Given the description of an element on the screen output the (x, y) to click on. 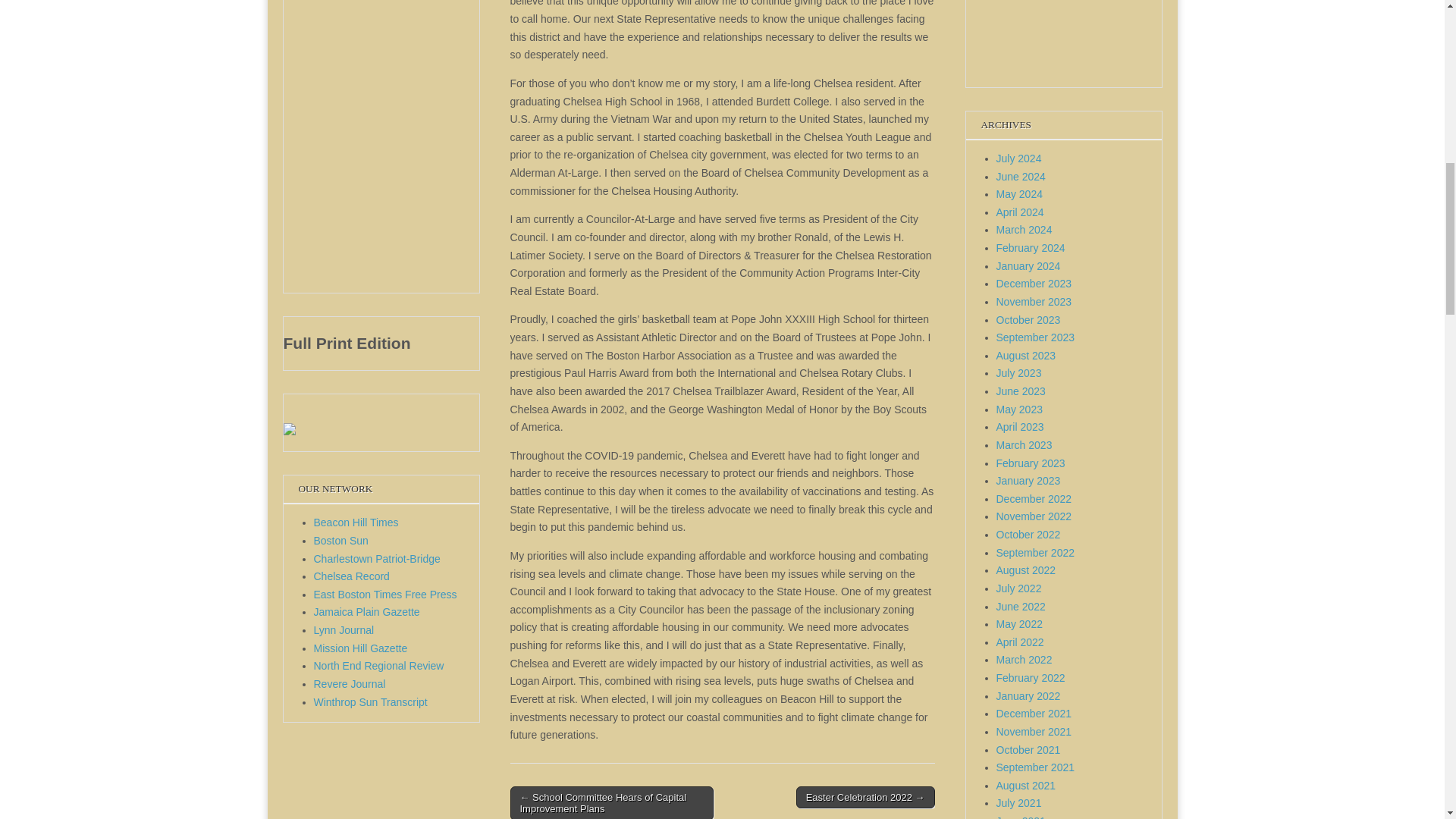
Charlestown Patriot-Bridge (377, 558)
Boston Sun (341, 540)
Chelsea Record (352, 576)
Jamaica Plain Gazette (367, 612)
Beacon Hill Times (356, 522)
East Boston Times Free Press (385, 594)
